Given the description of an element on the screen output the (x, y) to click on. 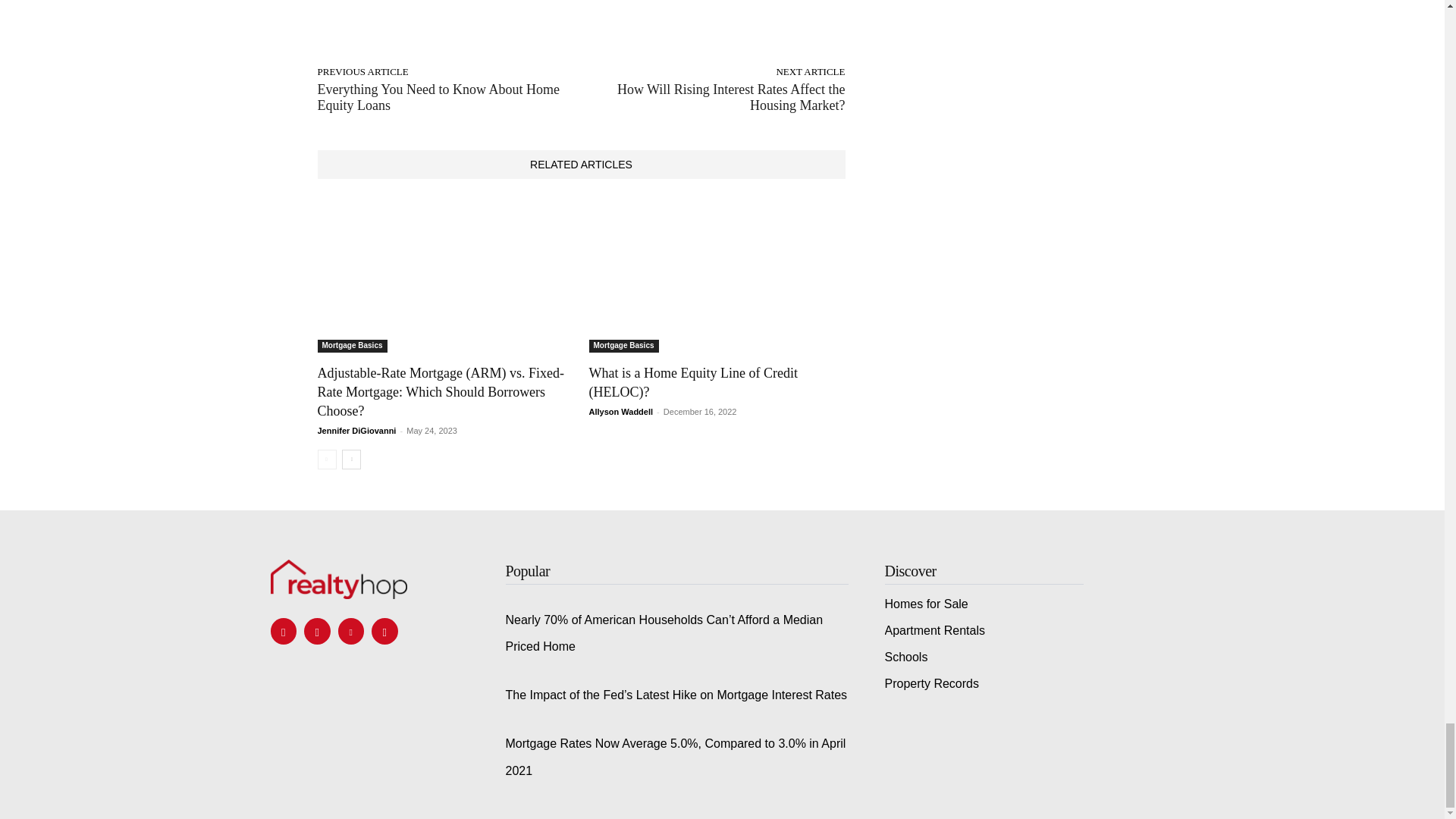
Mortgage Basics (623, 345)
Allyson Waddell (620, 411)
How Will Rising Interest Rates Affect the Housing Market? (731, 97)
Mortgage Basics (352, 345)
Everything You Need to Know About Home Equity Loans (438, 97)
Jennifer DiGiovanni (356, 429)
